Given the description of an element on the screen output the (x, y) to click on. 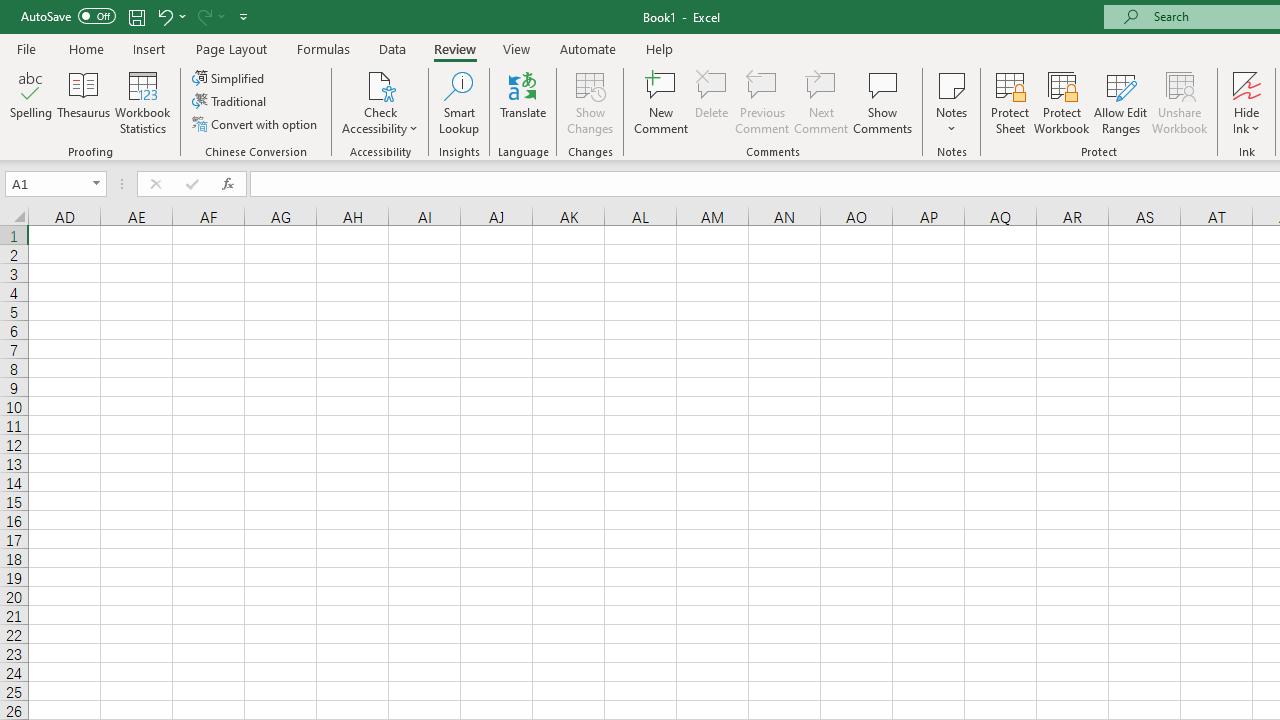
Spelling... (31, 102)
Protect Workbook... (1061, 102)
Simplified (230, 78)
Translate (523, 102)
